Given the description of an element on the screen output the (x, y) to click on. 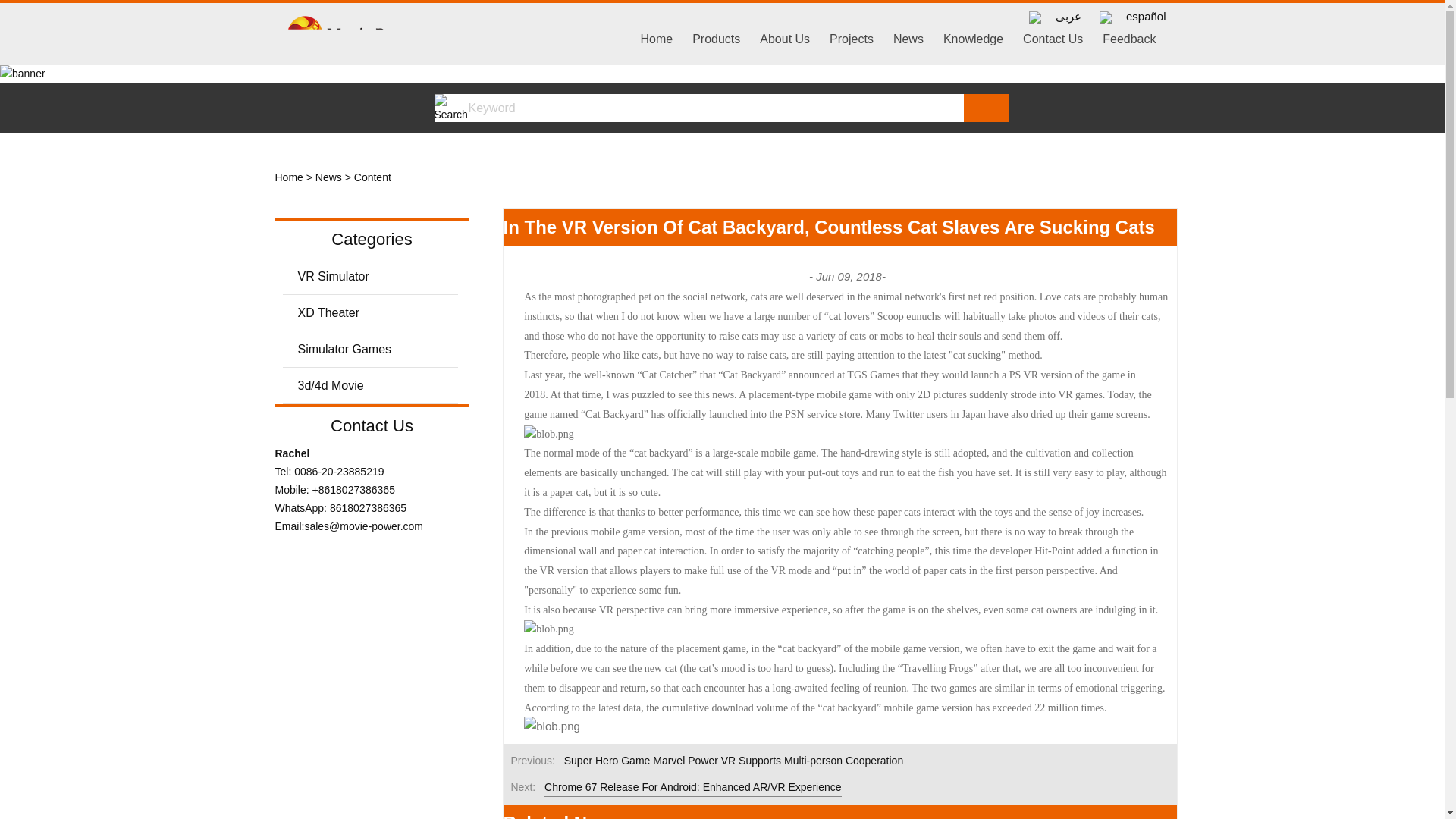
Products (716, 29)
blob.png (551, 726)
Keyword (697, 108)
Contact Us (1052, 29)
News (328, 177)
Home (288, 177)
Knowledge (973, 29)
Projects (851, 29)
blob.png (548, 628)
Keyword (697, 108)
